Given the description of an element on the screen output the (x, y) to click on. 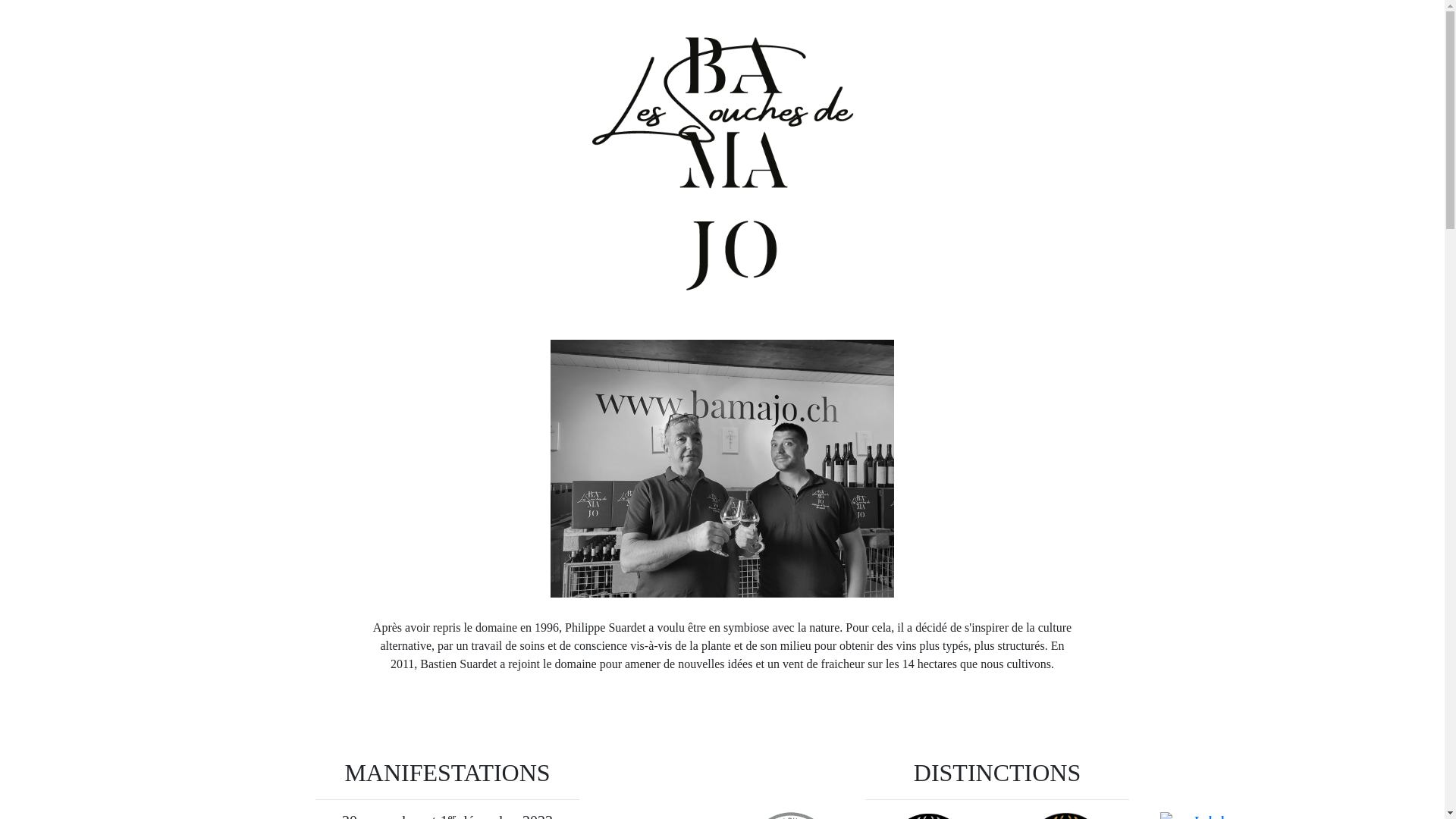
Logo des Souches de Bamajo Element type: hover (721, 163)
Accueil Element type: hover (722, 468)
